Given the description of an element on the screen output the (x, y) to click on. 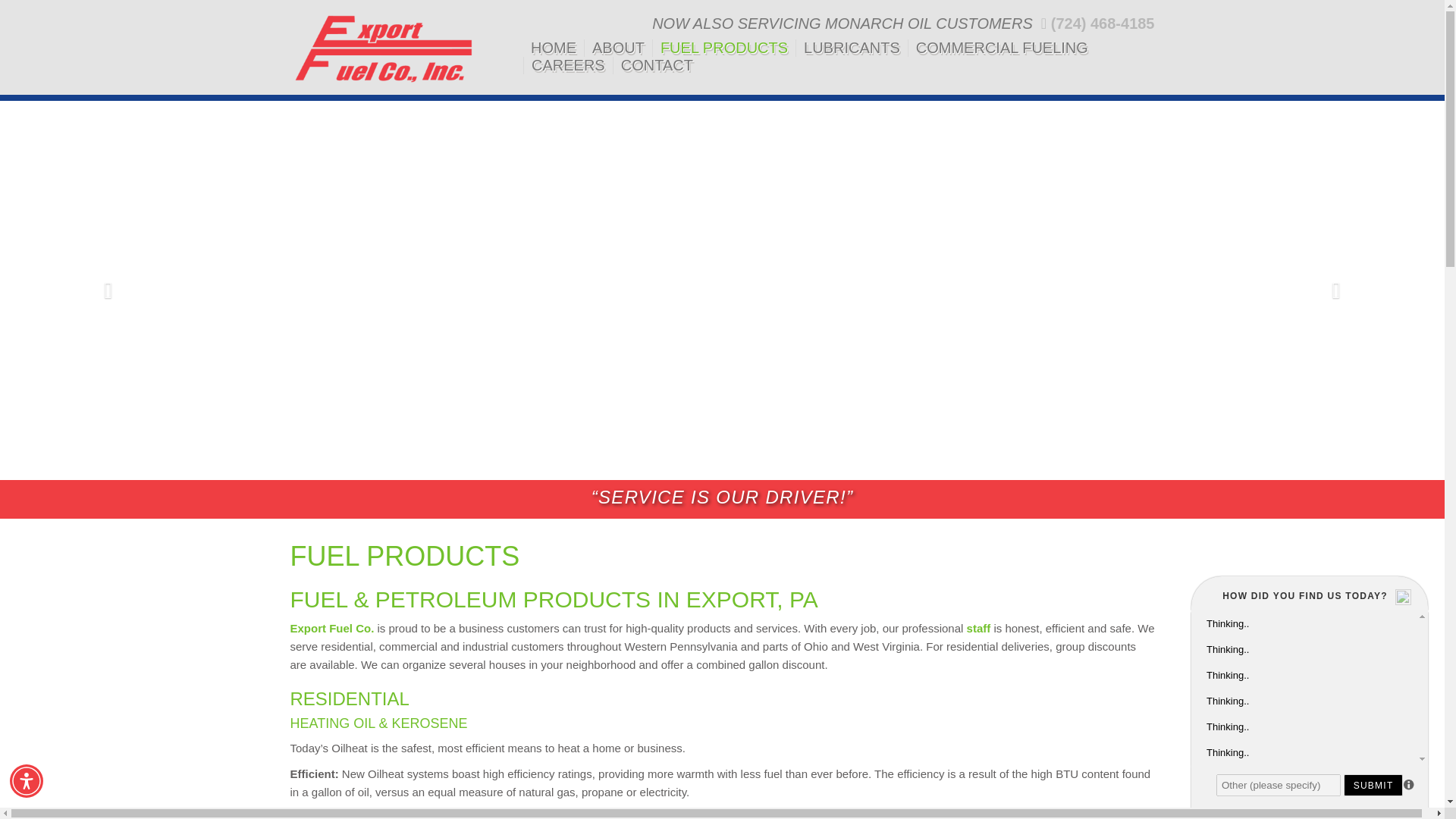
Fuel Products (723, 47)
LUBRICANTS (851, 47)
Home (552, 47)
Lubricants (851, 47)
HOME (552, 47)
Careers (568, 65)
About (618, 47)
COMMERCIAL FUELING (1002, 47)
CONTACT (656, 65)
Contact (656, 65)
Commercial Fueling (1002, 47)
CAREERS (568, 65)
Survey: How did you find our site? (1309, 687)
Export Fuel Co. (331, 627)
ABOUT (618, 47)
